Given the description of an element on the screen output the (x, y) to click on. 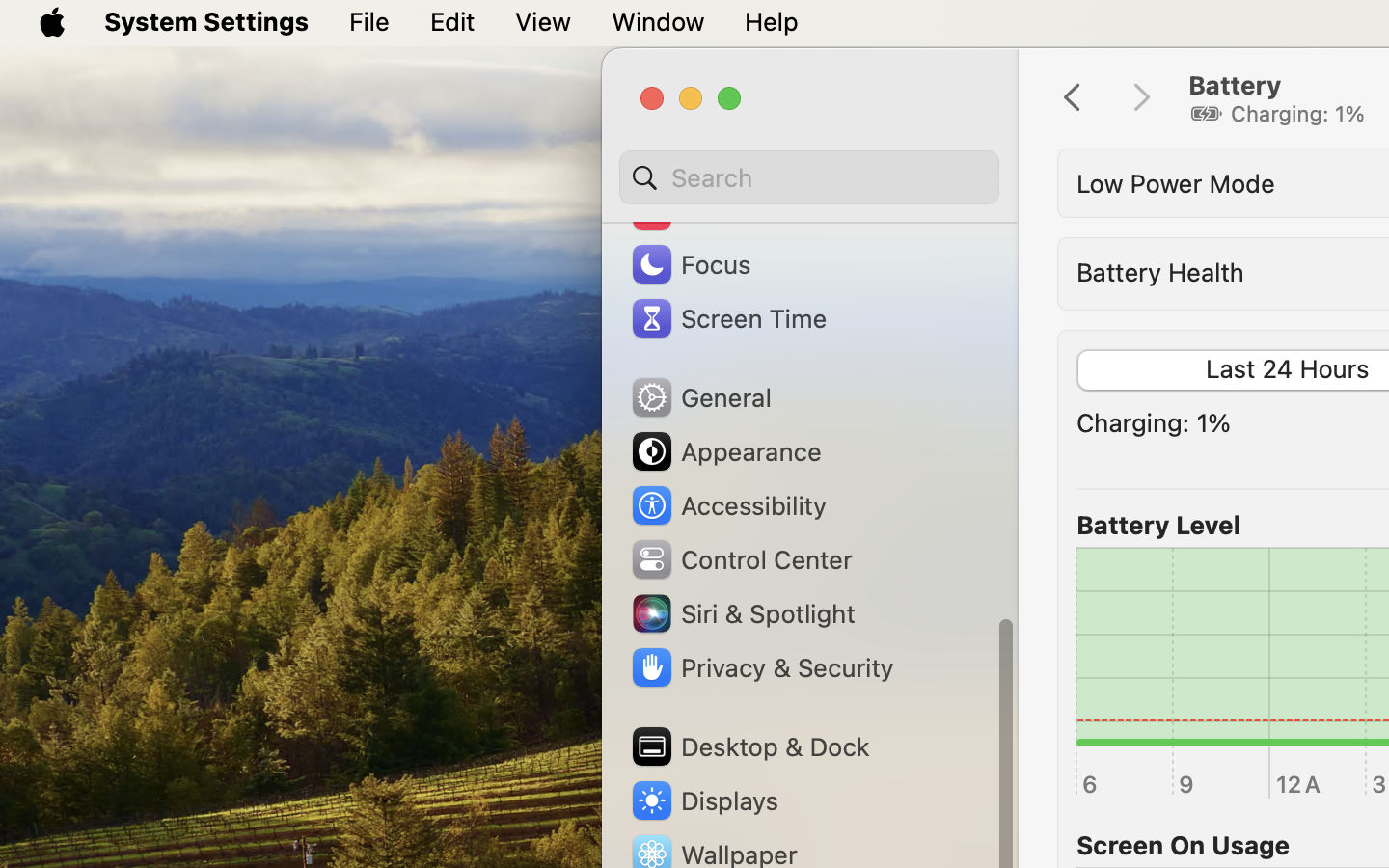
Battery Health Element type: AXStaticText (1160, 271)
Privacy & Security Element type: AXStaticText (760, 667)
Control Center Element type: AXStaticText (740, 559)
Displays Element type: AXStaticText (703, 800)
Accessibility Element type: AXStaticText (727, 505)
